Given the description of an element on the screen output the (x, y) to click on. 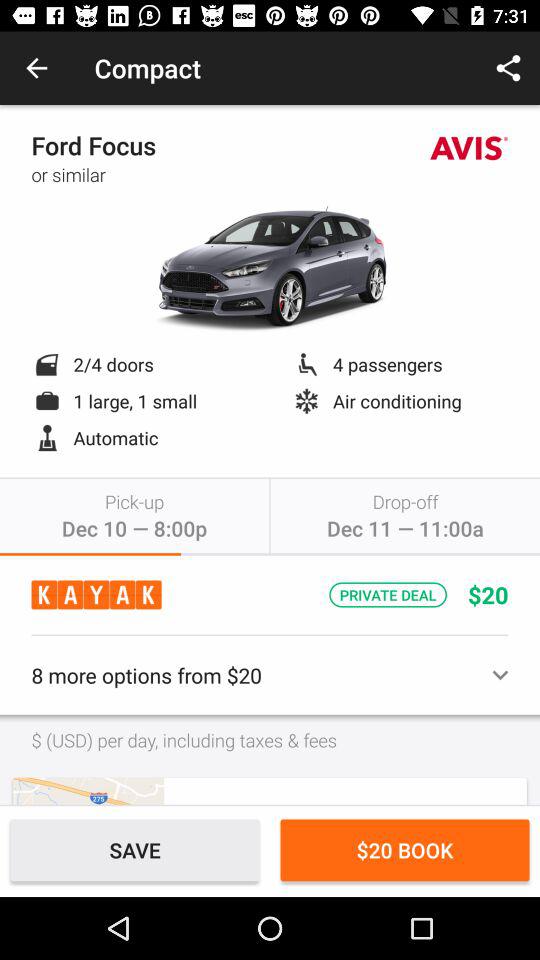
select item at the bottom right corner (404, 850)
